Given the description of an element on the screen output the (x, y) to click on. 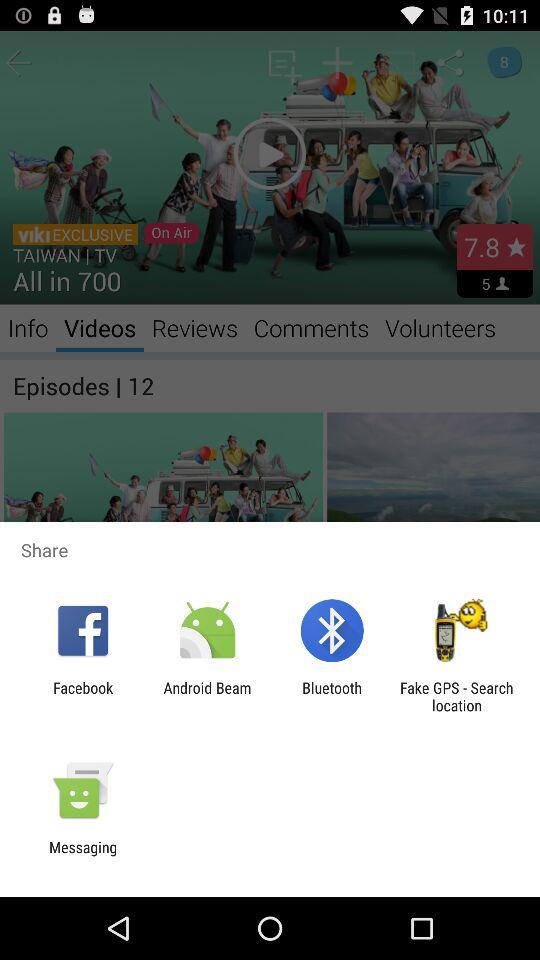
flip to messaging app (83, 856)
